Given the description of an element on the screen output the (x, y) to click on. 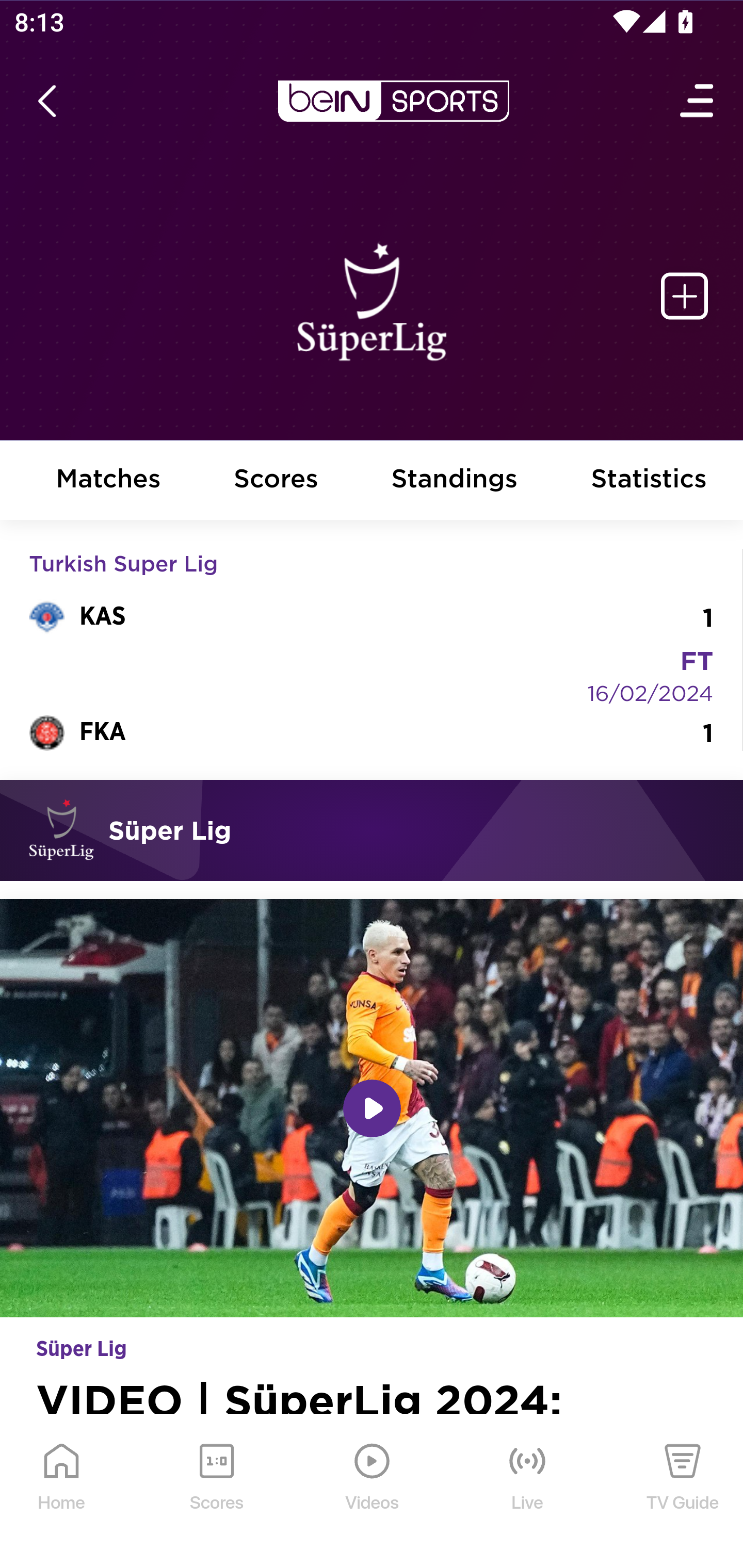
en-us?platform=mobile_android bein logo white (392, 101)
icon back (46, 101)
Open Menu Icon (697, 101)
Matches (107, 480)
Scores (275, 480)
Standings (454, 480)
Statistics (649, 480)
Home Home Icon Home (61, 1491)
Scores Scores Icon Scores (216, 1491)
Videos Videos Icon Videos (372, 1491)
TV Guide TV Guide Icon TV Guide (682, 1491)
